Given the description of an element on the screen output the (x, y) to click on. 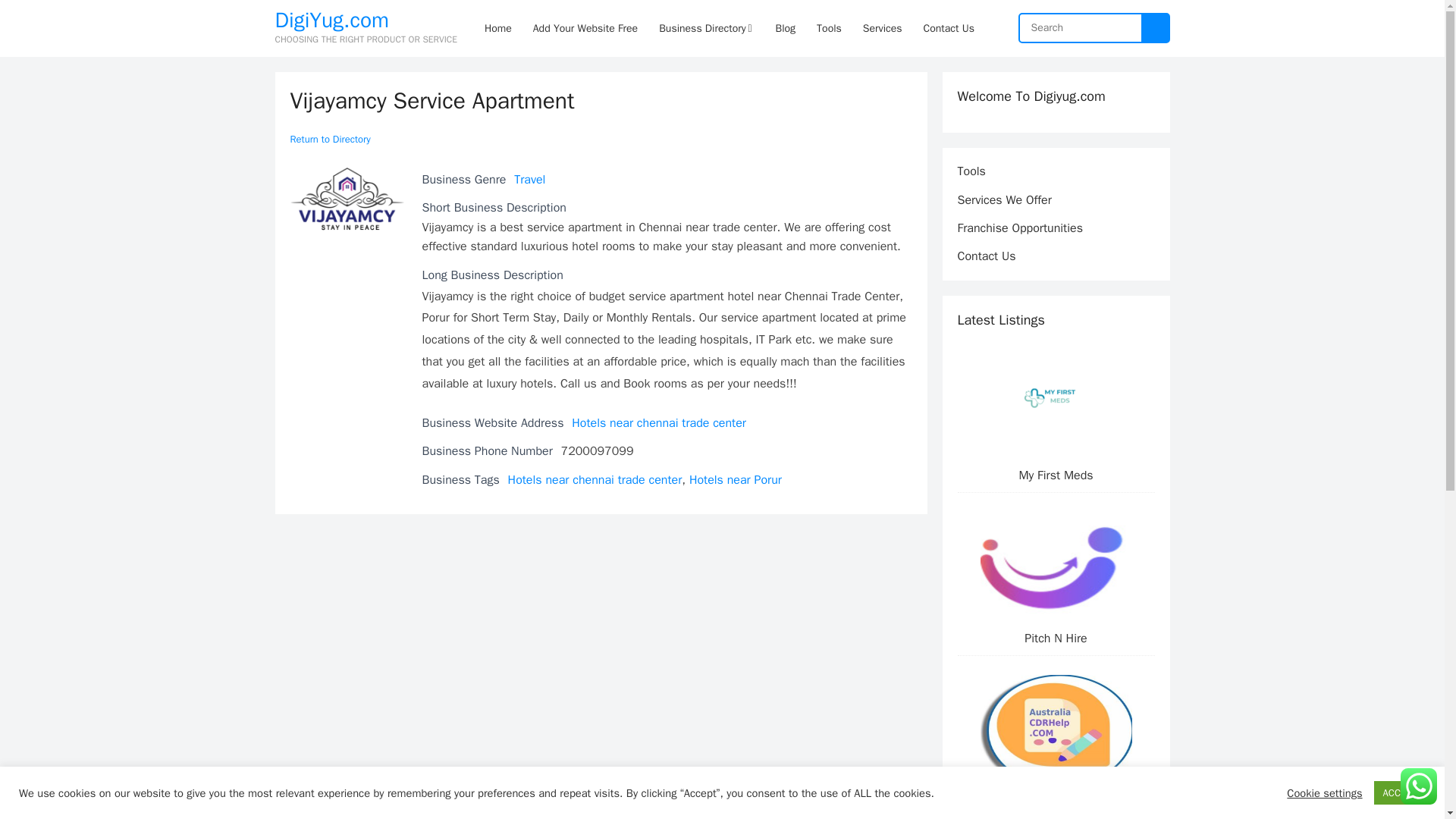
Vijayamcy Service Apartment (346, 198)
Contact Us (949, 28)
Travel (528, 179)
Hotels near chennai trade center (658, 422)
My First Meds (1055, 475)
Add Your Website Free (585, 28)
Hotels near chennai trade center (595, 479)
Services (882, 28)
Services We Offer (1003, 200)
Contact Us (985, 255)
